Given the description of an element on the screen output the (x, y) to click on. 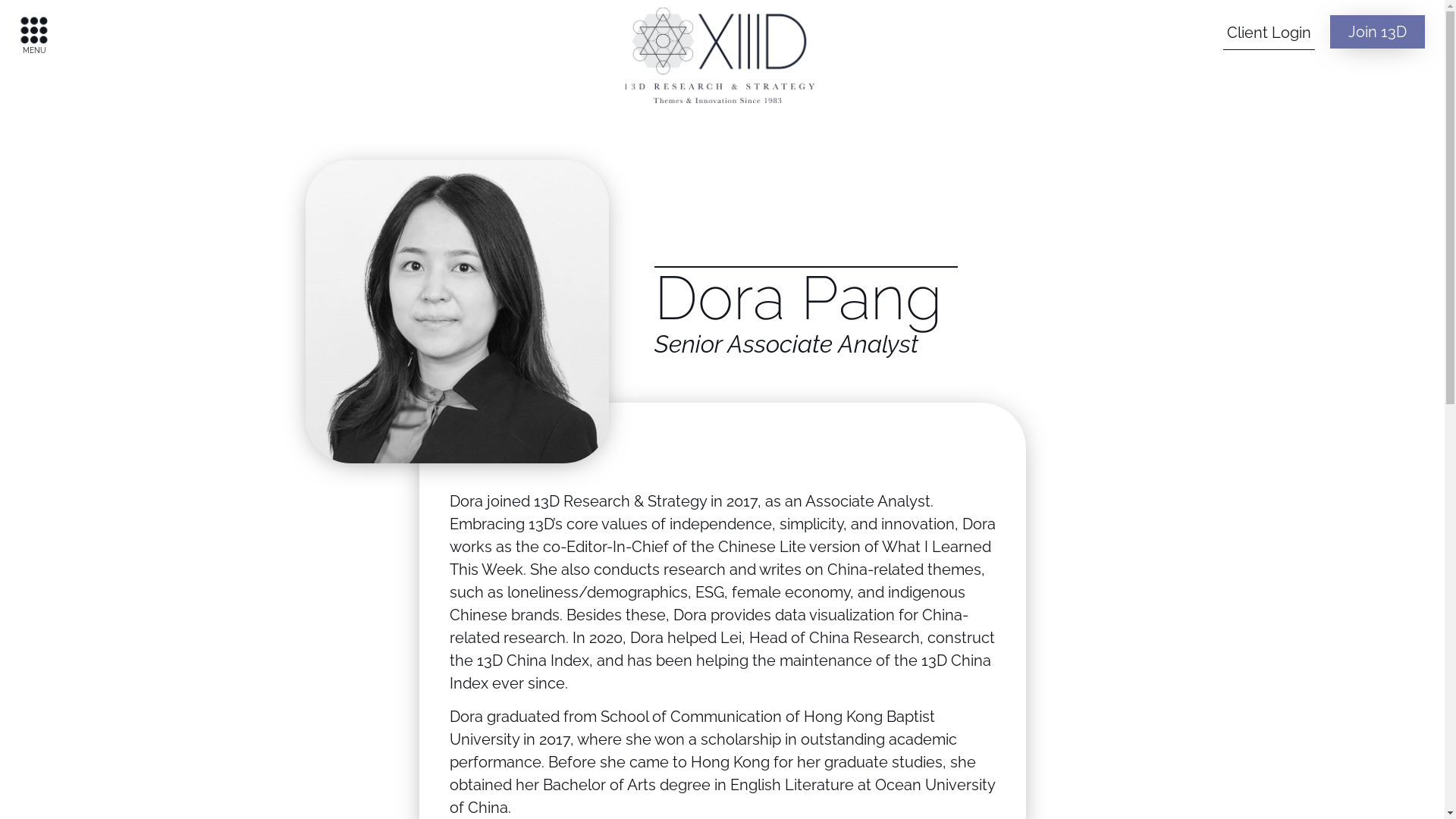
Join 13D Element type: text (1377, 31)
Client Login Element type: text (1268, 32)
